Given the description of an element on the screen output the (x, y) to click on. 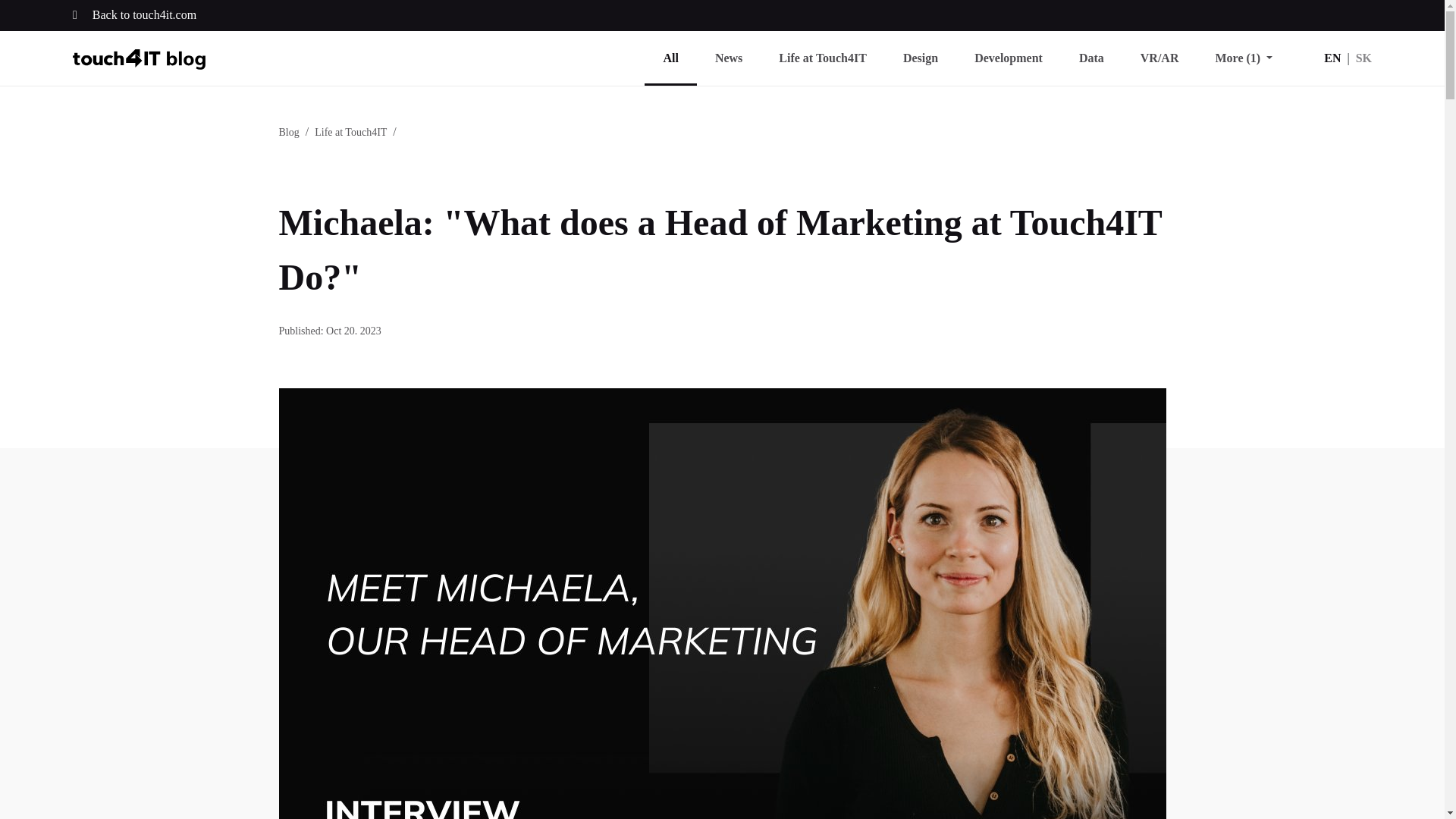
Touch4IT (138, 57)
Blog (289, 132)
EN (1331, 58)
Data (1091, 58)
Development (1008, 58)
All (670, 58)
Design (920, 58)
News (728, 58)
